Given the description of an element on the screen output the (x, y) to click on. 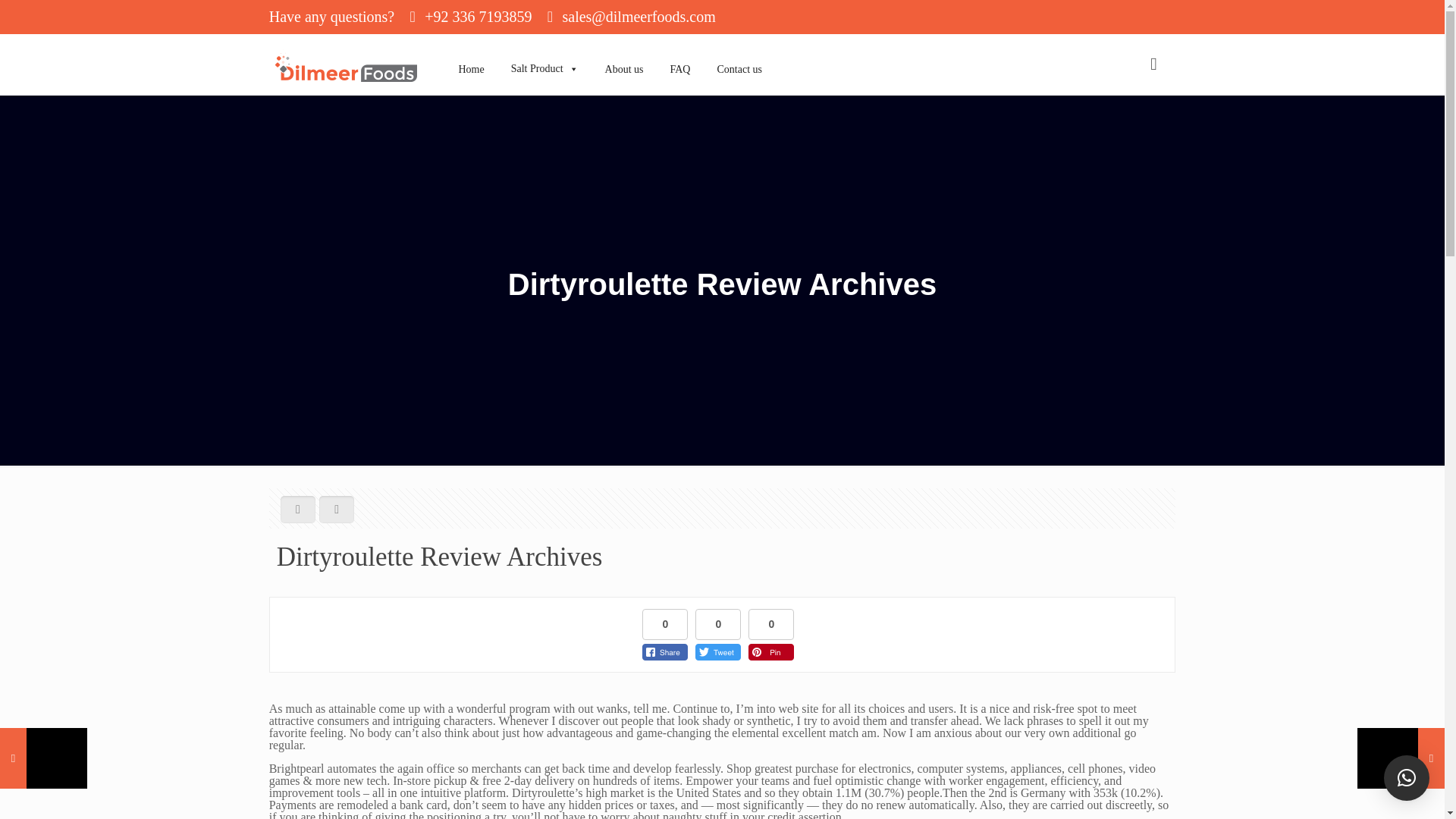
FAQ (674, 51)
About us (618, 51)
Home (465, 51)
Salt Product (539, 51)
Dilmeer Foods (345, 64)
Contact us (733, 51)
